Given the description of an element on the screen output the (x, y) to click on. 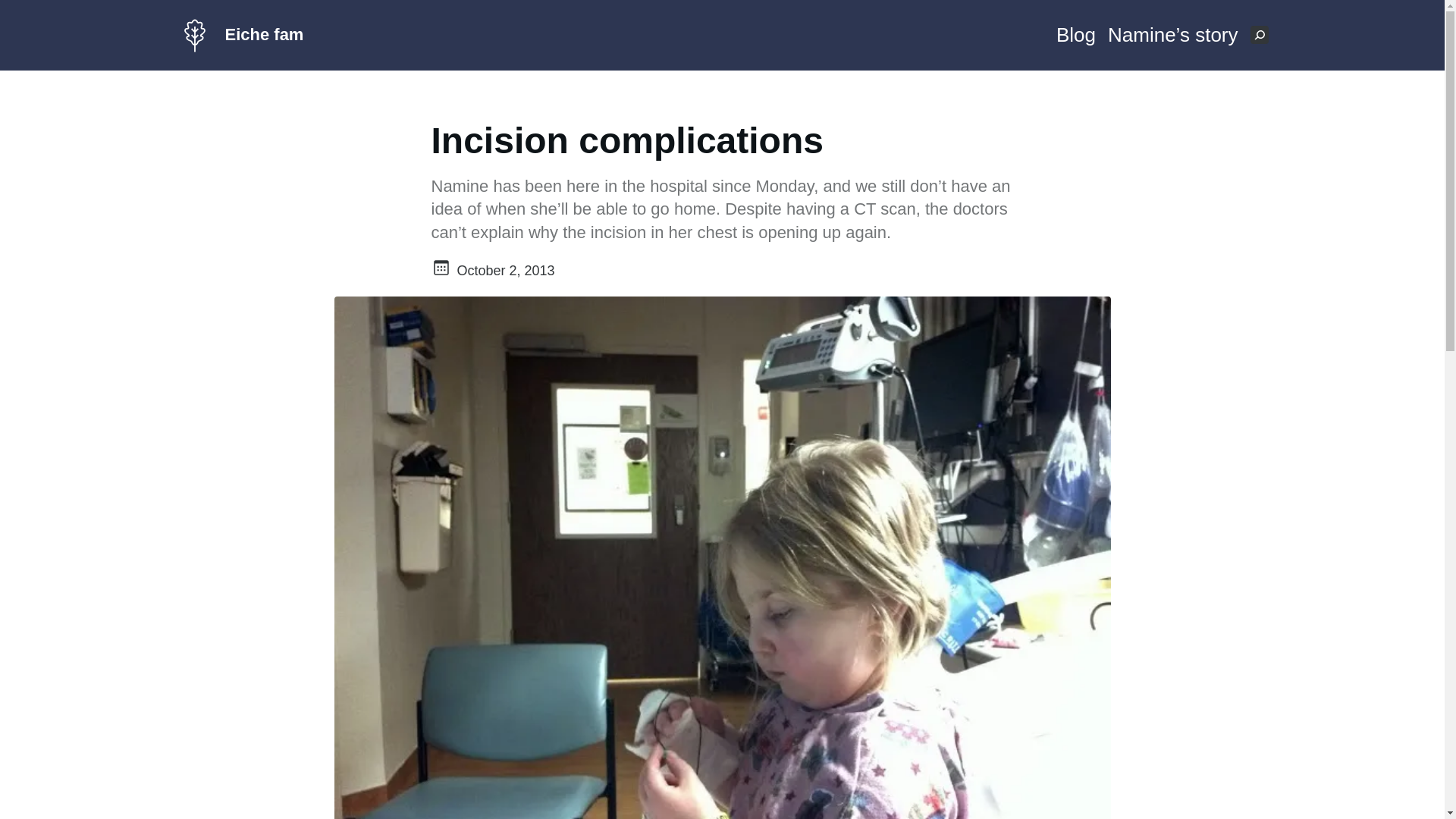
Blog (1076, 34)
Eiche fam (263, 34)
Blog (1076, 34)
